Given the description of an element on the screen output the (x, y) to click on. 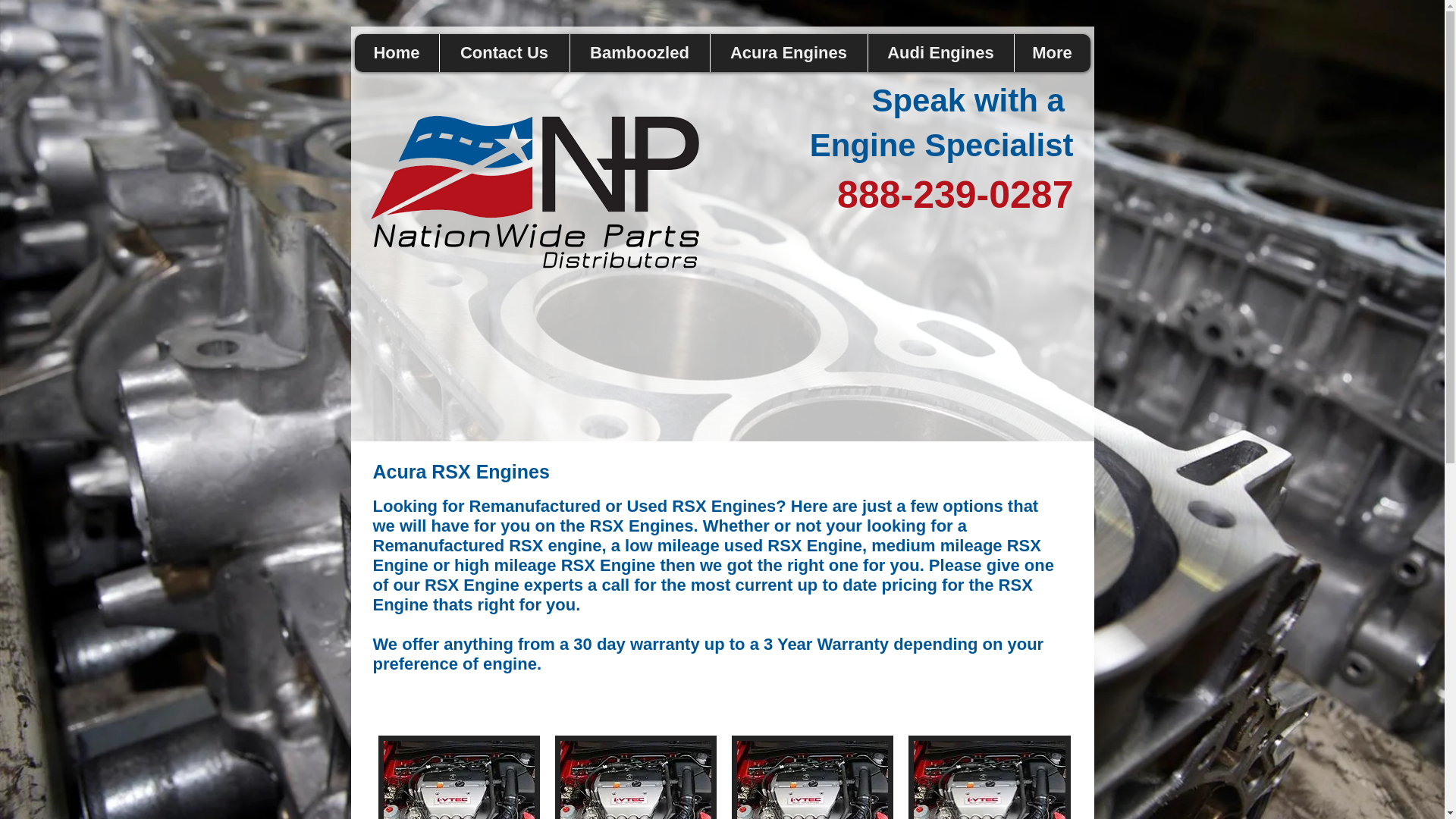
Audi Engines (940, 53)
Bamboozled (639, 53)
Home (397, 53)
Acura Engines (788, 53)
Rebuilt Engines Remanufactured Engines Used Engine (535, 199)
Contact Us (503, 53)
